Given the description of an element on the screen output the (x, y) to click on. 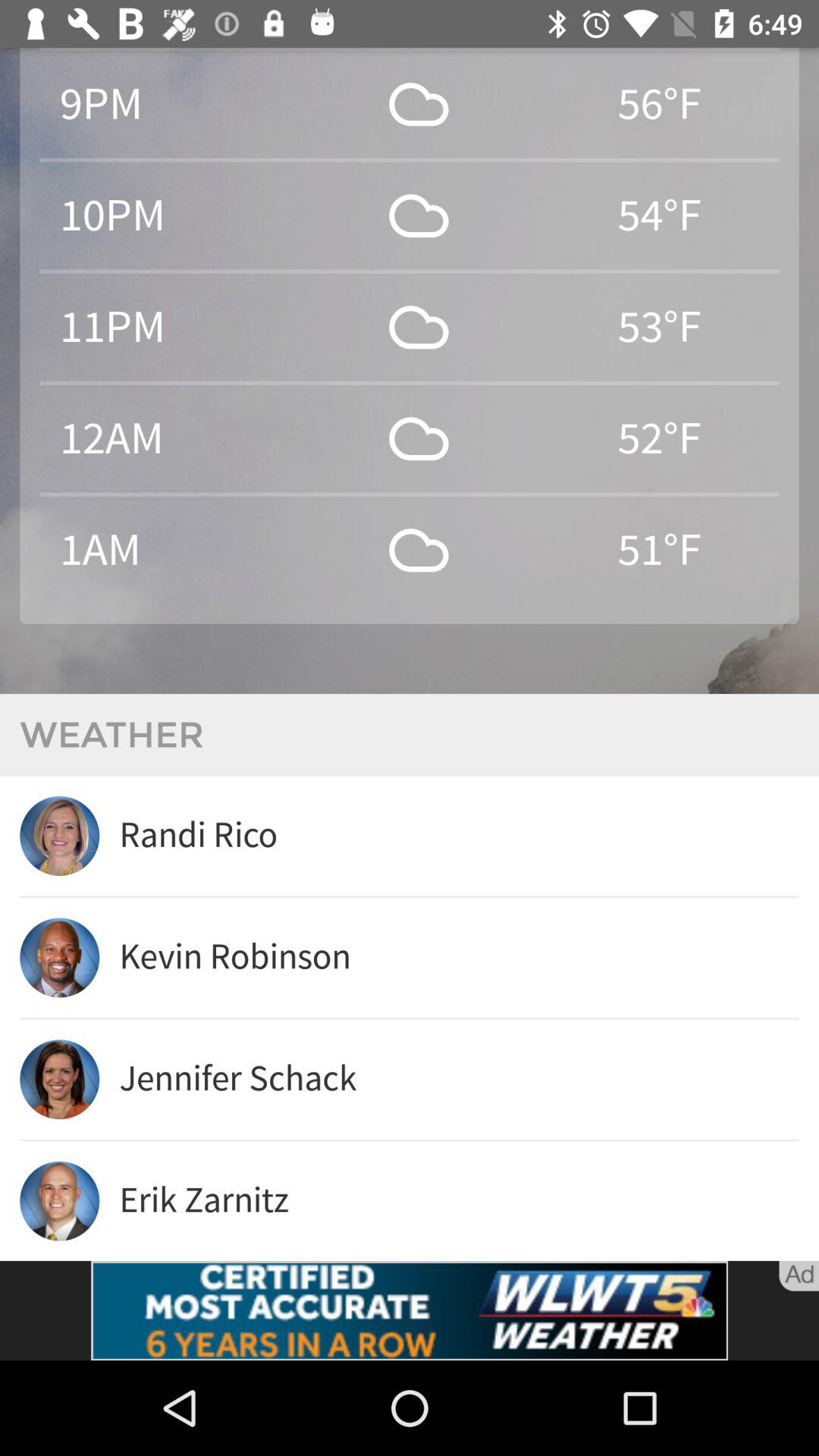
go to the advertisement locatiion (409, 1310)
